Given the description of an element on the screen output the (x, y) to click on. 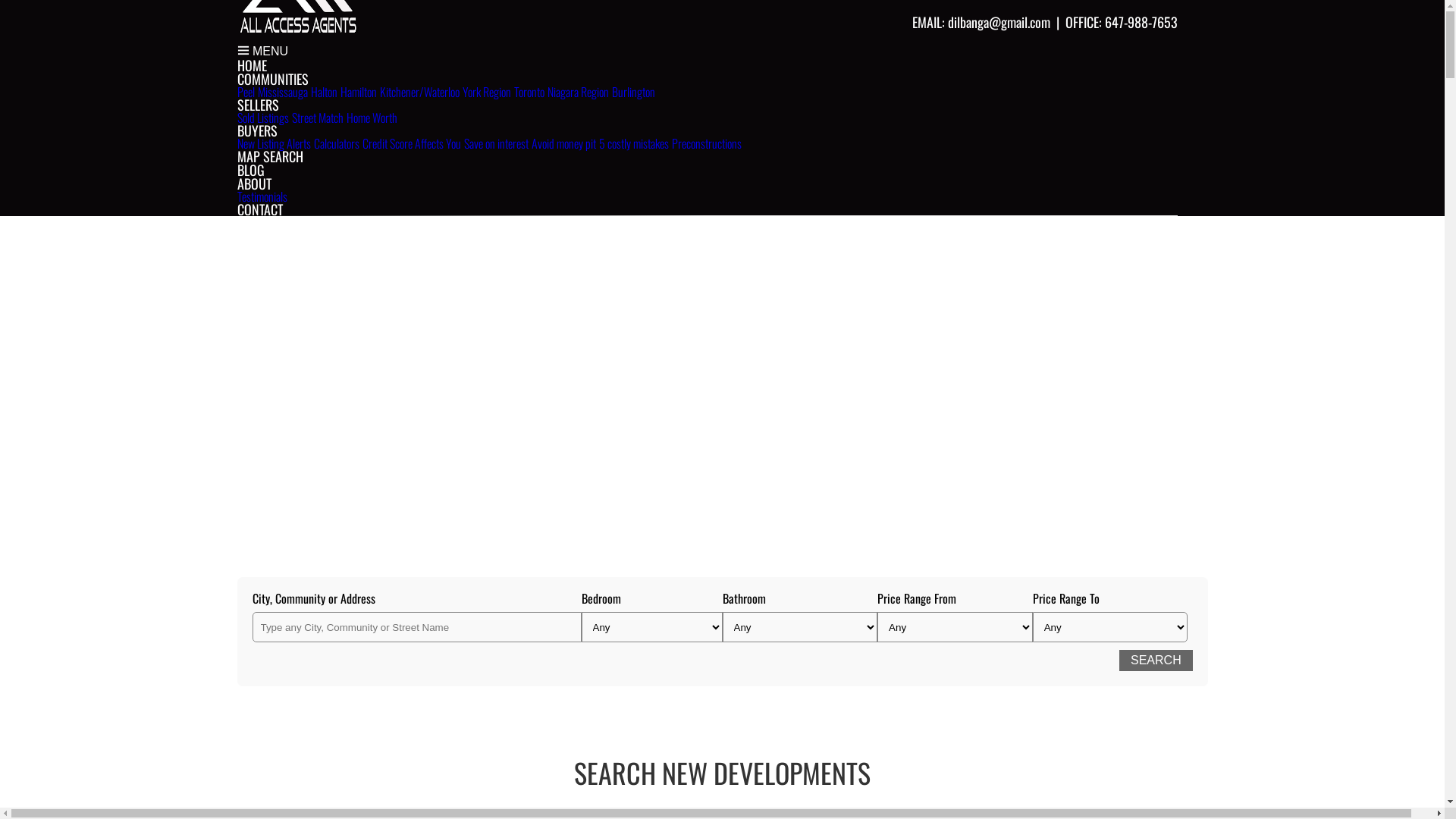
5 costly mistakes Element type: text (633, 143)
MENU Element type: text (262, 50)
COMMUNITIES Element type: text (271, 78)
SEARCH Element type: text (1155, 660)
Calculators Element type: text (336, 143)
New Listing Alerts Element type: text (273, 143)
Kitchener/Waterloo Element type: text (418, 91)
Street Match Element type: text (316, 117)
CONTACT Element type: text (259, 209)
BUYERS Element type: text (256, 130)
Sold Listings Element type: text (262, 117)
York Region Element type: text (486, 91)
Halton Element type: text (323, 91)
OFFICE: 647-988-7653 Element type: text (1120, 21)
Burlington Element type: text (632, 91)
Save on interest Element type: text (496, 143)
MAP SEARCH Element type: text (269, 156)
EMAIL: dilbanga@gmail.com Element type: text (980, 21)
Credit Score Affects You Element type: text (411, 143)
HOME Element type: text (251, 65)
BLOG Element type: text (249, 169)
Testimonials Element type: text (261, 196)
Home Worth Element type: text (370, 117)
Peel Element type: text (245, 91)
Mississauga Element type: text (282, 91)
Niagara Region Element type: text (577, 91)
SELLERS Element type: text (257, 104)
Avoid money pit Element type: text (562, 143)
Preconstructions Element type: text (706, 143)
Toronto Element type: text (529, 91)
Hamilton Element type: text (357, 91)
ABOUT Element type: text (253, 183)
